Given the description of an element on the screen output the (x, y) to click on. 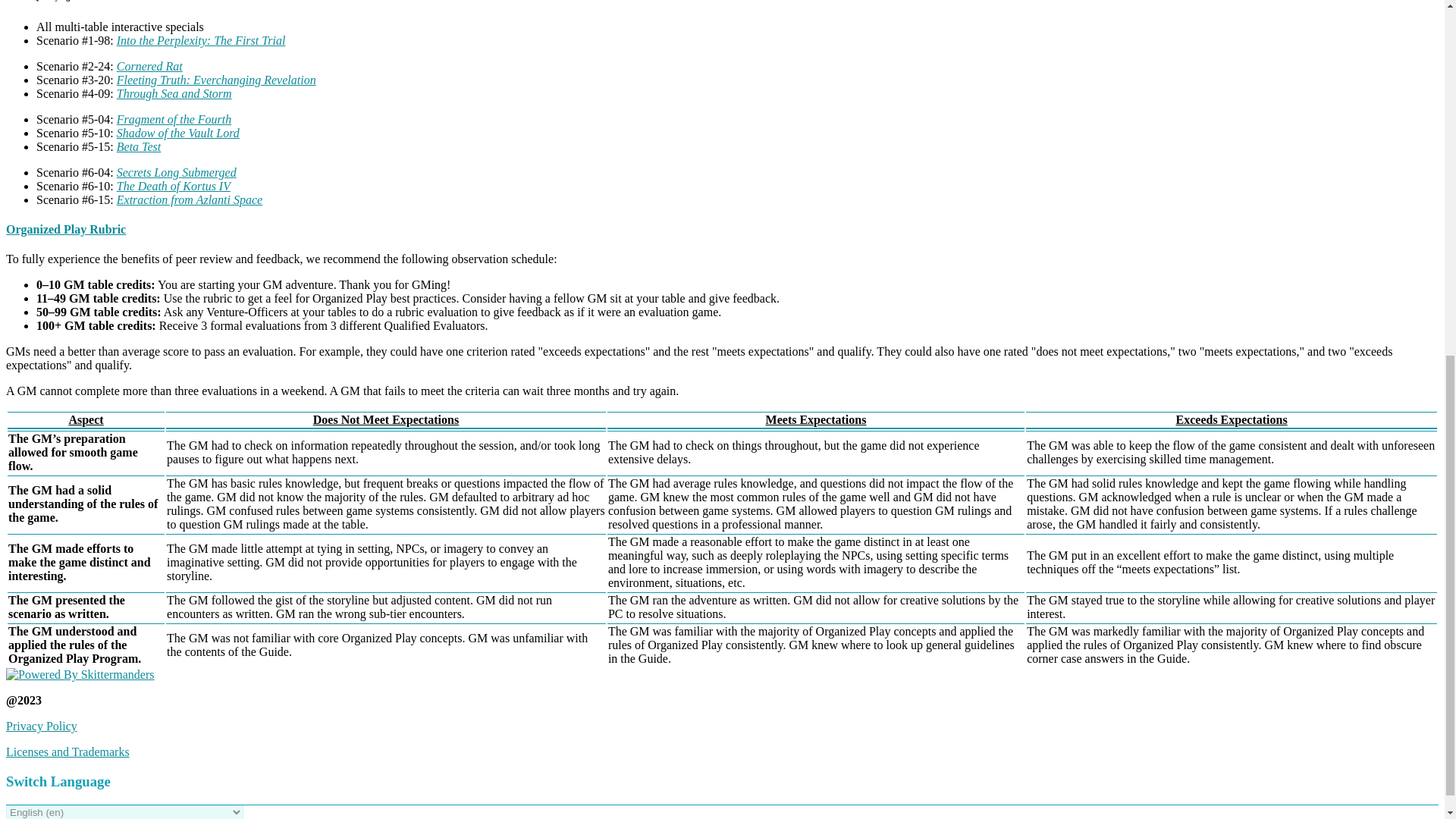
Beta Test (138, 146)
The Death of Kortus IV (173, 185)
Lorespire Home (79, 674)
Licenses and Trademarks (67, 751)
Cornered Rat (149, 65)
Shadow of the Vault Lord (178, 132)
Through Sea and Storm (173, 92)
Fleeting Truth: Everchanging Revelation (215, 79)
Into the Perplexity: The First Trial (200, 40)
Extraction from Azlanti Space (189, 199)
Privacy Policy (41, 725)
Secrets Long Submerged (175, 172)
Fragment of the Fourth (173, 119)
Organized Play Rubric (65, 228)
